Given the description of an element on the screen output the (x, y) to click on. 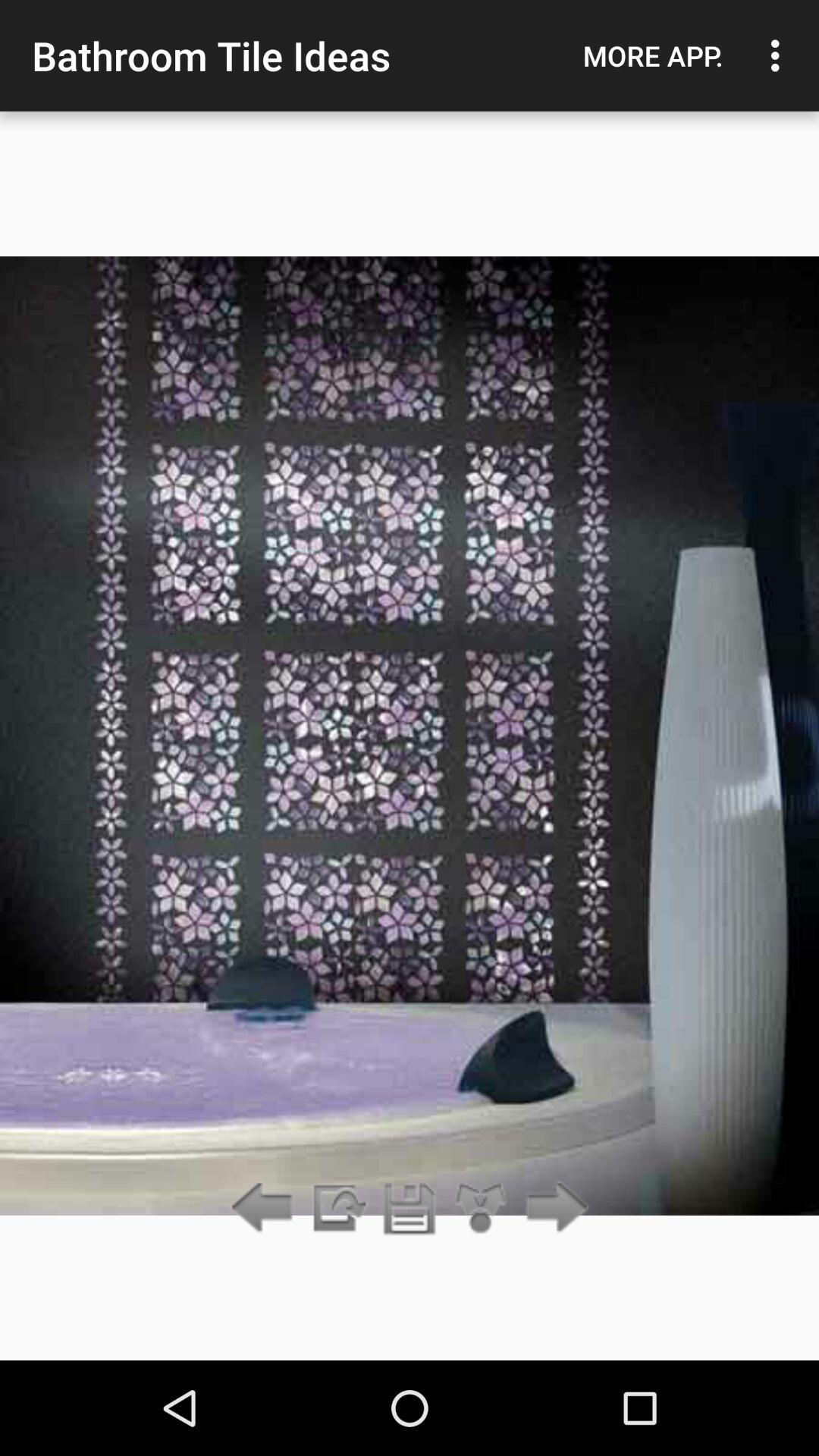
open the item below more app. icon (552, 1209)
